Given the description of an element on the screen output the (x, y) to click on. 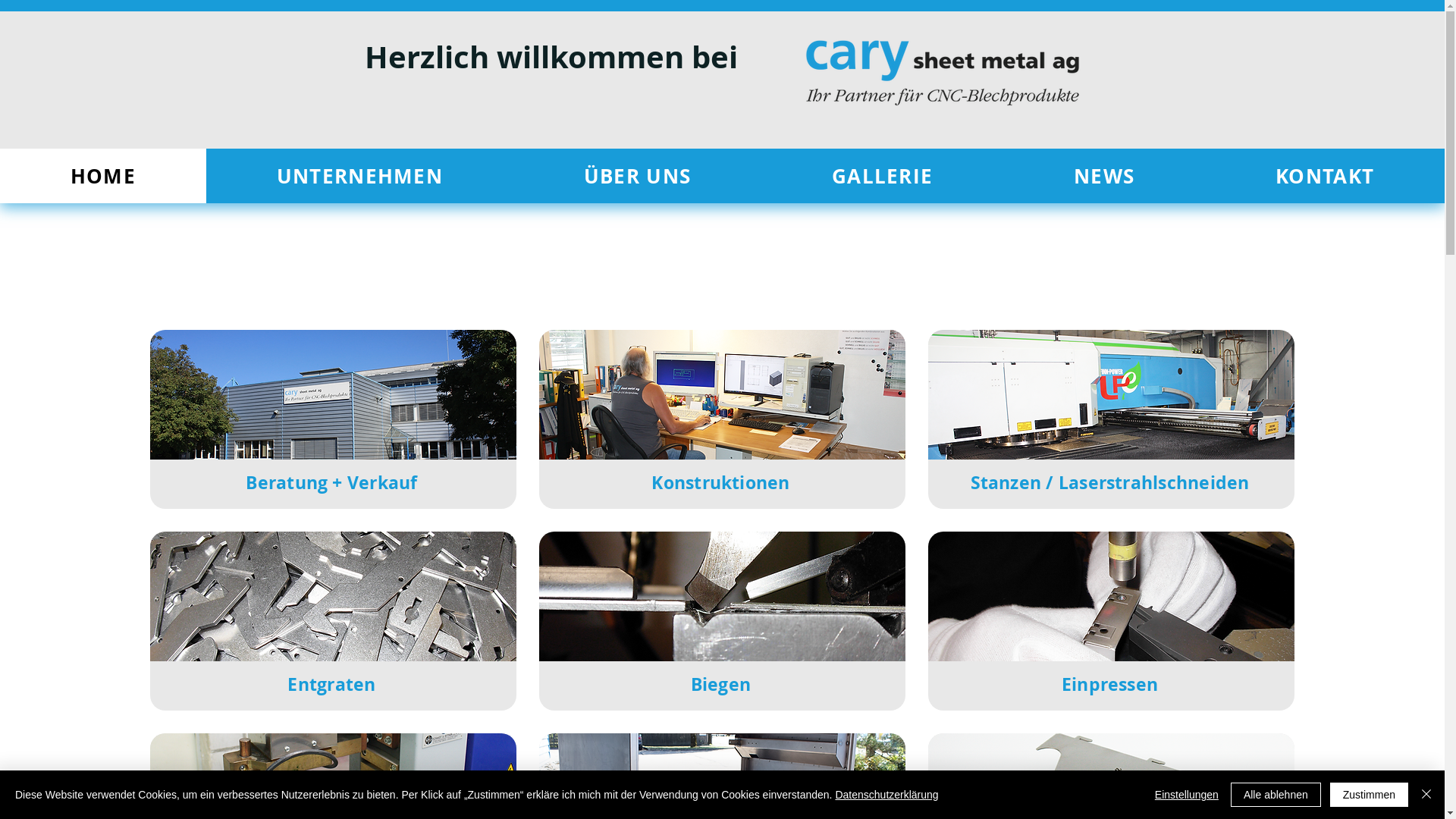
Konstruktionen Element type: hover (723, 392)
Beratung + Verkauf Element type: text (331, 482)
Entgraten Element type: text (331, 683)
Biegen Element type: hover (723, 594)
KONTAKT Element type: text (1324, 175)
Cary Sheet Metal AG Element type: hover (941, 72)
UNTERNEHMEN Element type: text (359, 175)
Entgraten Element type: hover (334, 594)
Zustimmen Element type: text (1369, 794)
Konstruktionen Element type: text (720, 482)
Biegen Element type: text (720, 683)
NEWS Element type: text (1103, 175)
Beratung+ Verkauf Element type: hover (334, 392)
HOME Element type: text (103, 175)
Stanzen / Laserstrahlschneiden Element type: text (1109, 482)
Einpressen Element type: hover (1112, 594)
Stanzen / Laserstrahlschneiden Element type: hover (1112, 392)
Einpressen Element type: text (1109, 683)
GALLERIE Element type: text (882, 175)
Alle ablehnen Element type: text (1275, 794)
